Given the description of an element on the screen output the (x, y) to click on. 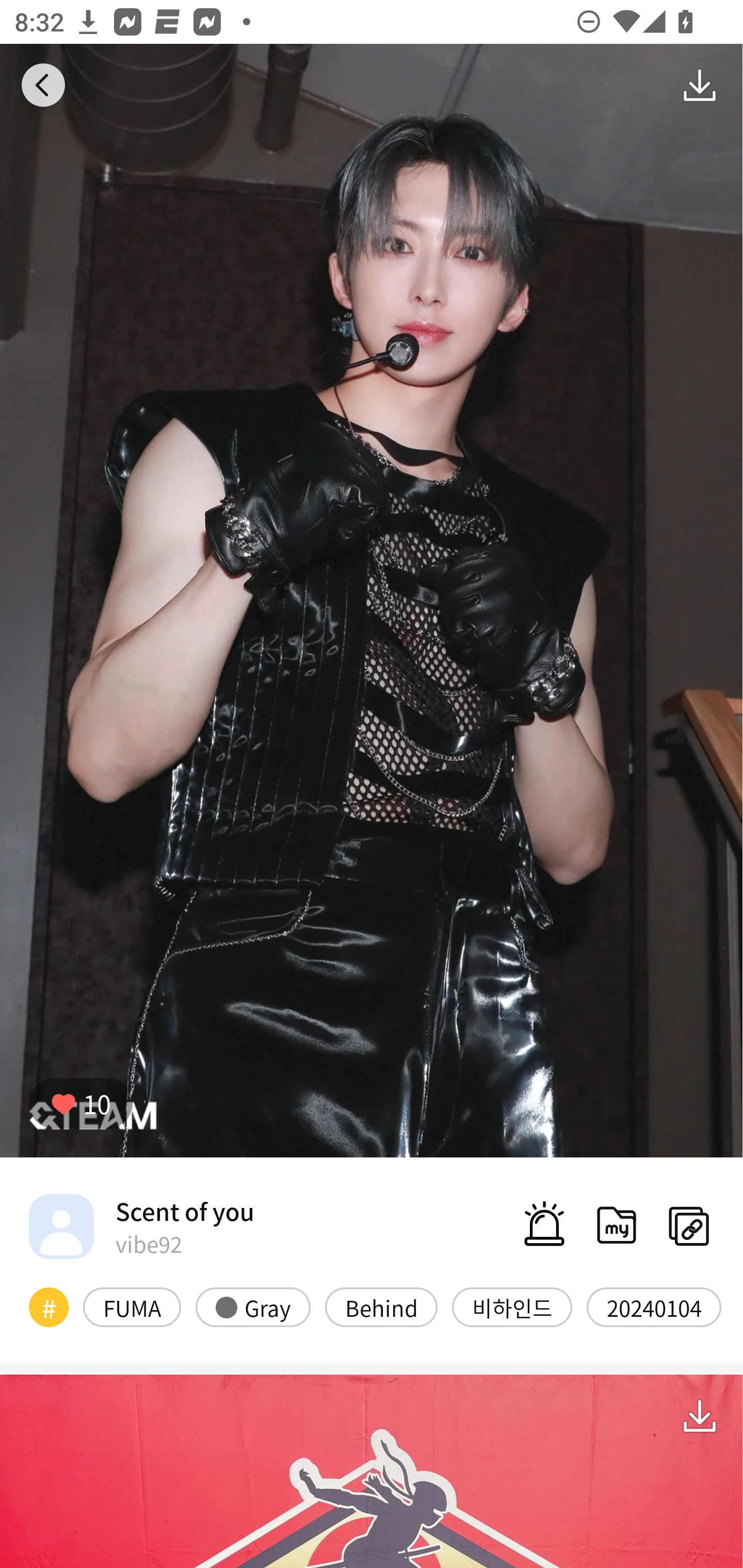
10 (80, 1102)
Scent of you vibe92 (141, 1226)
FUMA (132, 1306)
Gray (252, 1306)
Behind (381, 1306)
비하인드 (511, 1306)
20240104 (653, 1306)
